Given the description of an element on the screen output the (x, y) to click on. 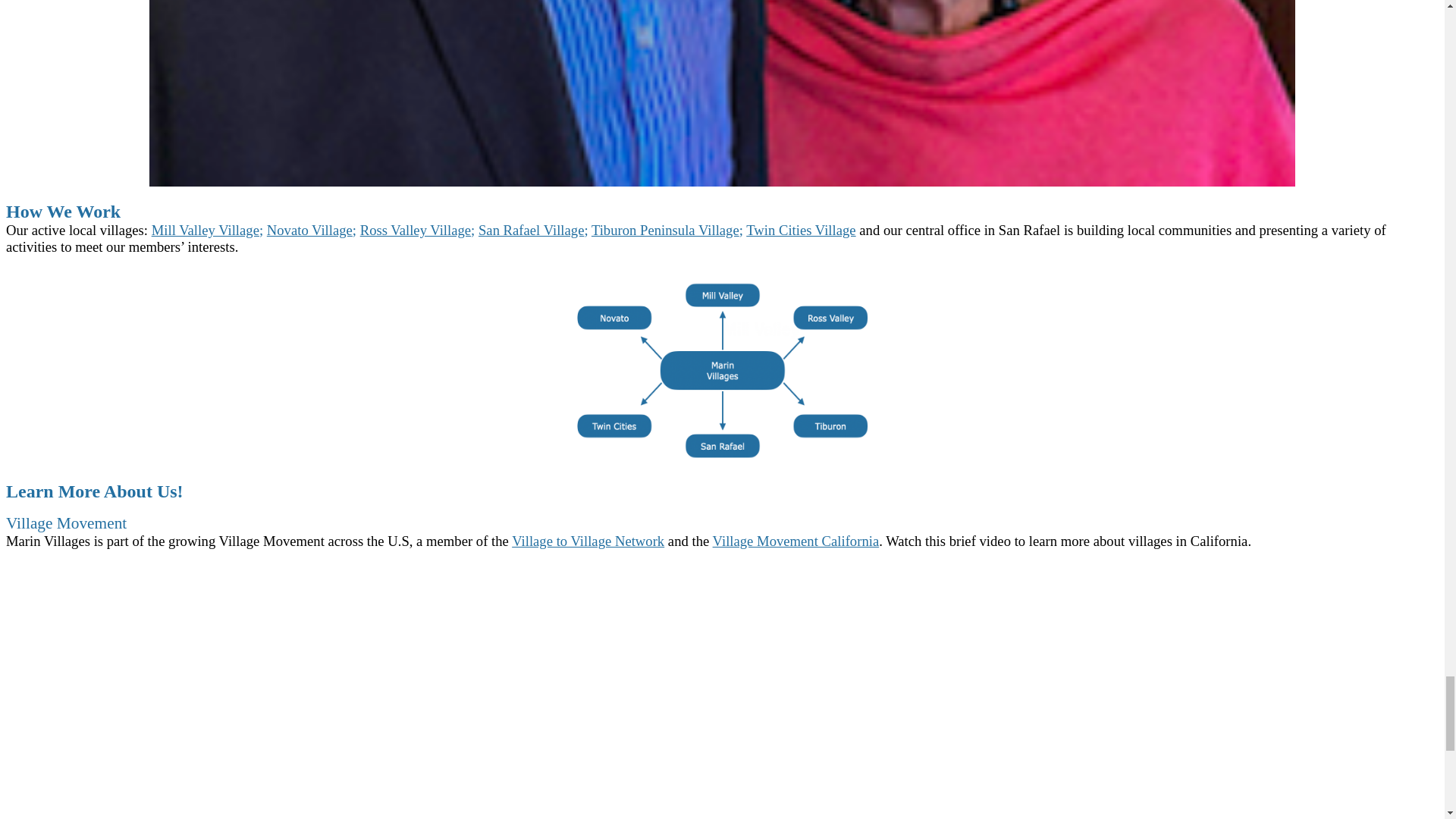
Tiburon Peninsula Village (665, 229)
Village Movement California (796, 540)
From Our Members (70, 817)
Village to Village Network (587, 540)
Mill Valley Village (205, 229)
Ross Valley Village (414, 229)
Ross Valley Village (414, 229)
San Rafael Village (531, 229)
Novato Village (309, 229)
Twin Cities Village (800, 229)
Novato Village (309, 229)
San Rafael Village (531, 229)
Twin Cities Village (800, 229)
Tiburon Peninsula Village (665, 229)
